Given the description of an element on the screen output the (x, y) to click on. 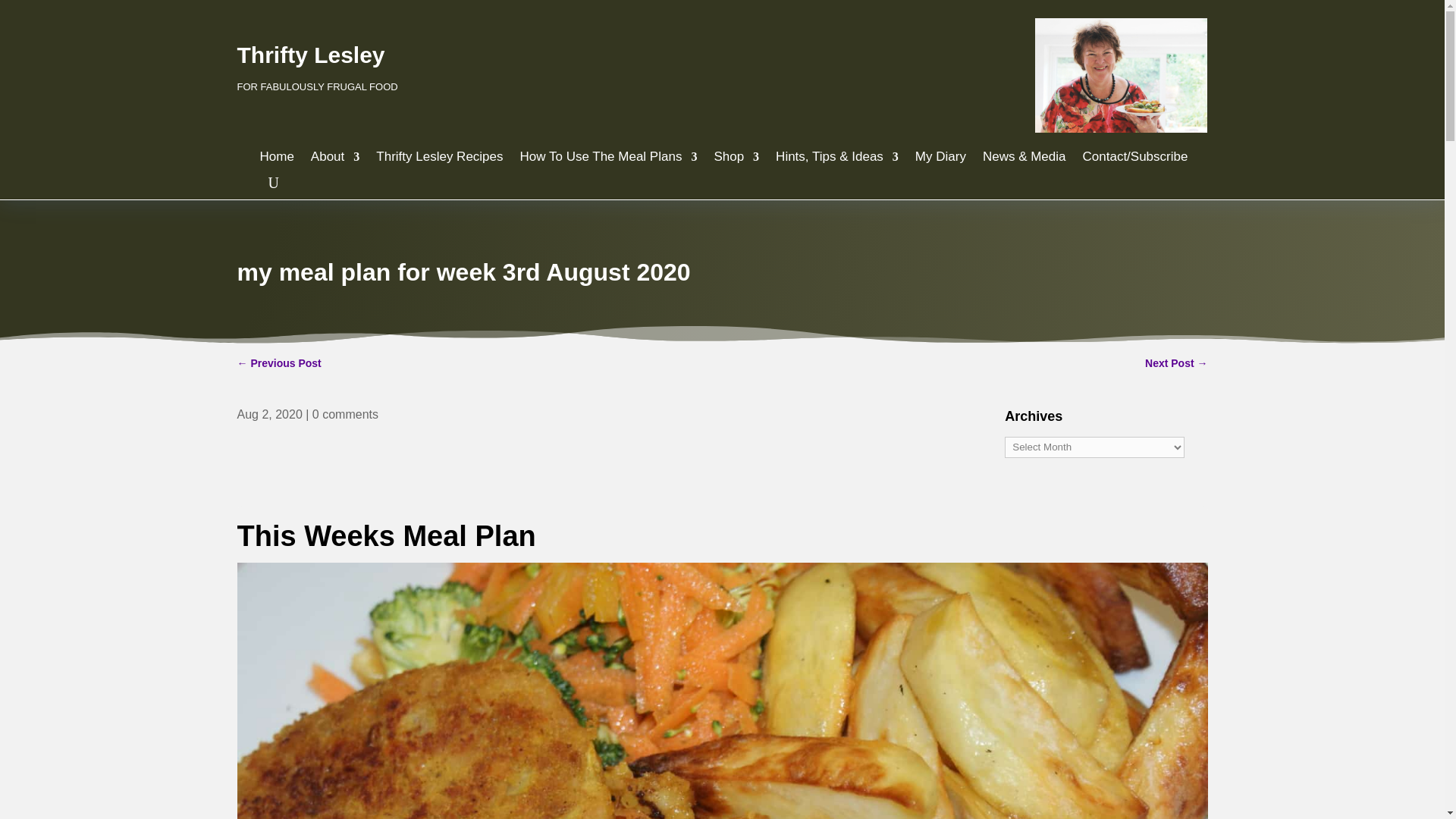
About (335, 160)
0 comments (345, 413)
Home (276, 160)
How To Use The Meal Plans (608, 160)
Thrifty Lesley Recipes (438, 160)
My Diary (940, 160)
Shop (735, 160)
